Given the description of an element on the screen output the (x, y) to click on. 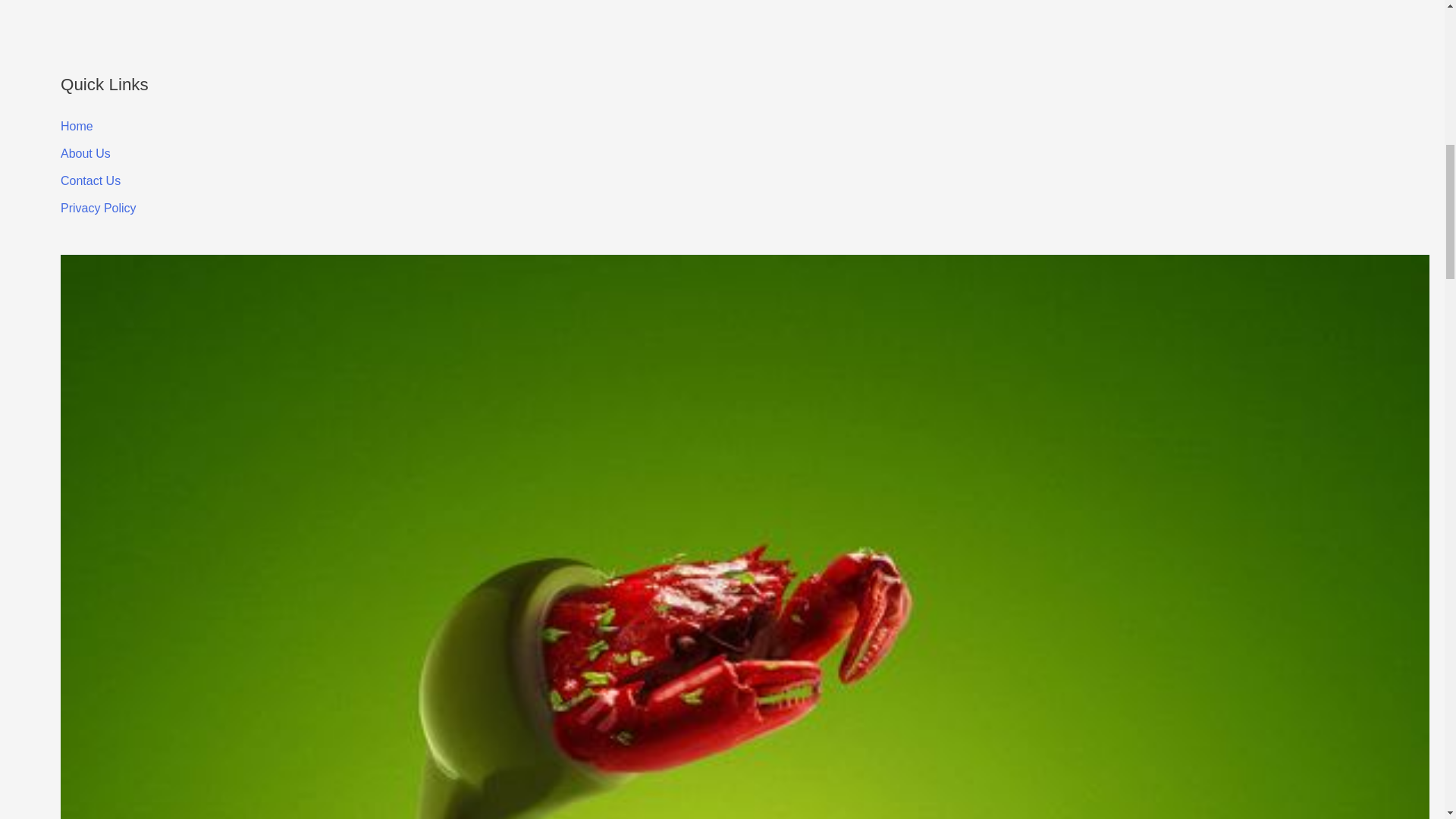
Privacy Policy (98, 207)
About Us (85, 153)
Contact Us (90, 180)
Home (77, 125)
